Given the description of an element on the screen output the (x, y) to click on. 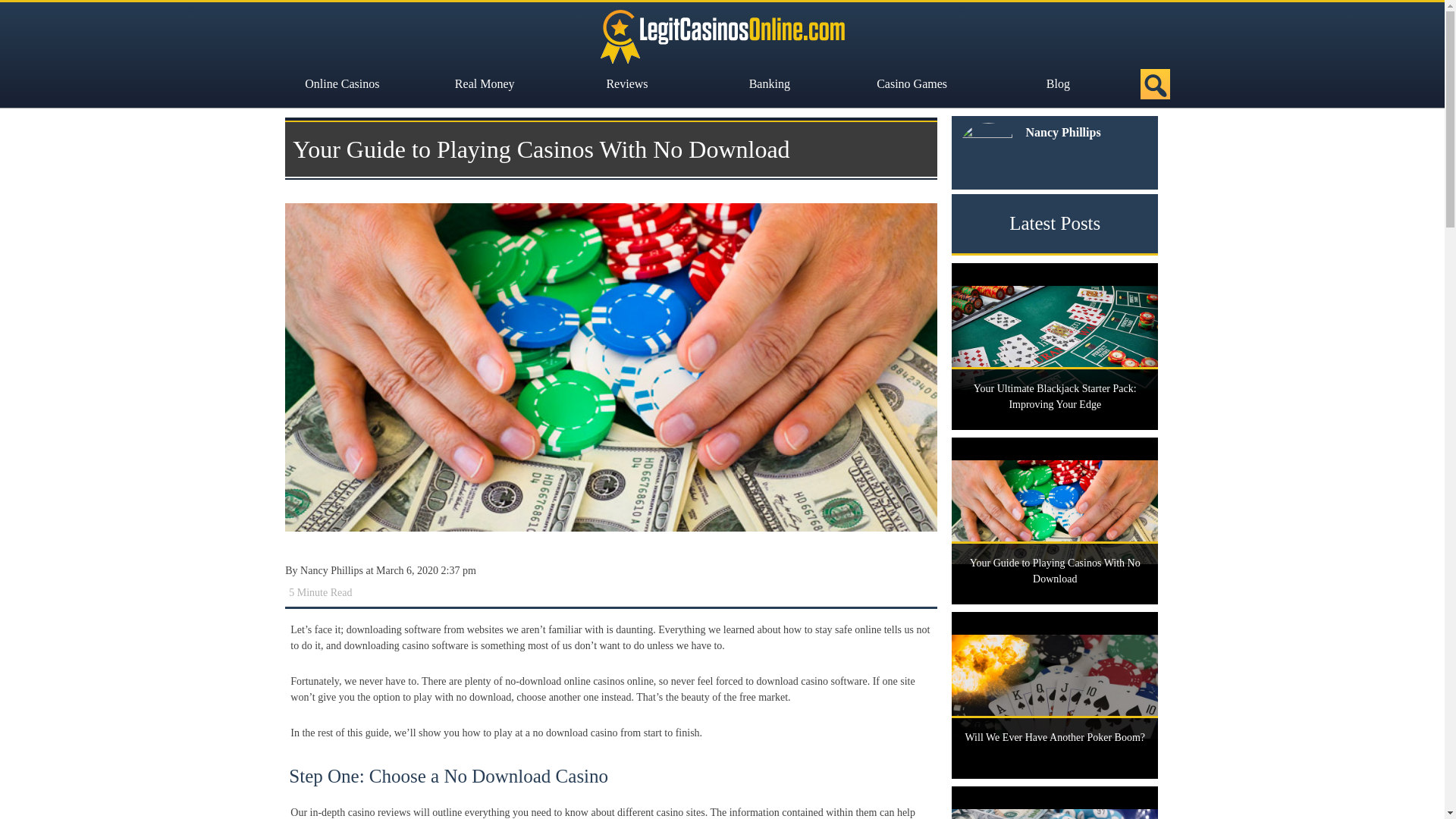
Reviews (630, 83)
Banking (772, 83)
Online Casinos (345, 83)
Real Money (487, 83)
Casino Games (915, 83)
